Given the description of an element on the screen output the (x, y) to click on. 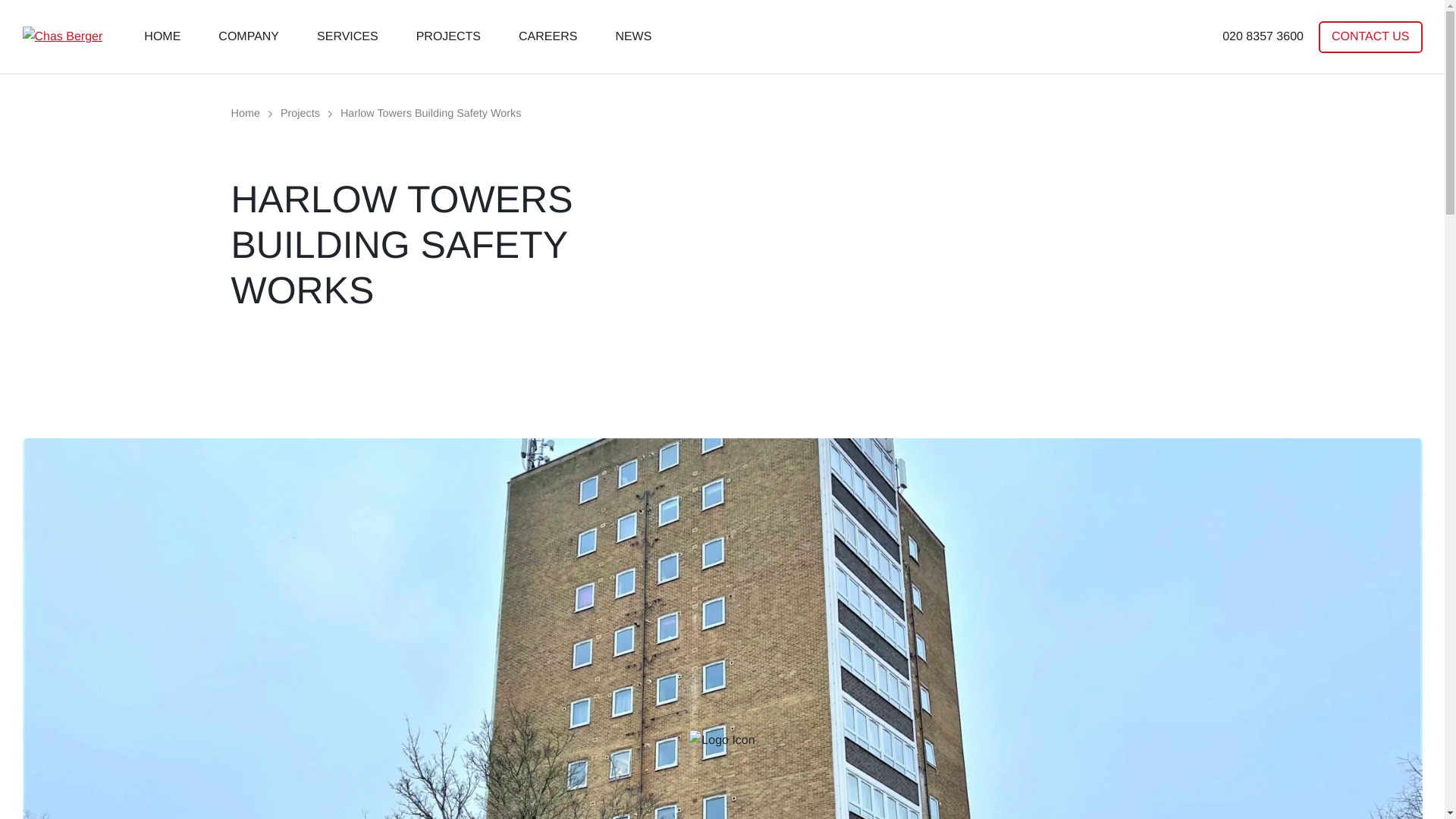
Home (244, 113)
CAREERS (547, 36)
Projects (300, 113)
Go to Projects. (300, 113)
SERVICES (347, 36)
Go to Chas Berger. (244, 113)
CONTACT US (1370, 37)
020 8357 3600 (1263, 36)
PROJECTS (448, 36)
HOME (161, 36)
